Given the description of an element on the screen output the (x, y) to click on. 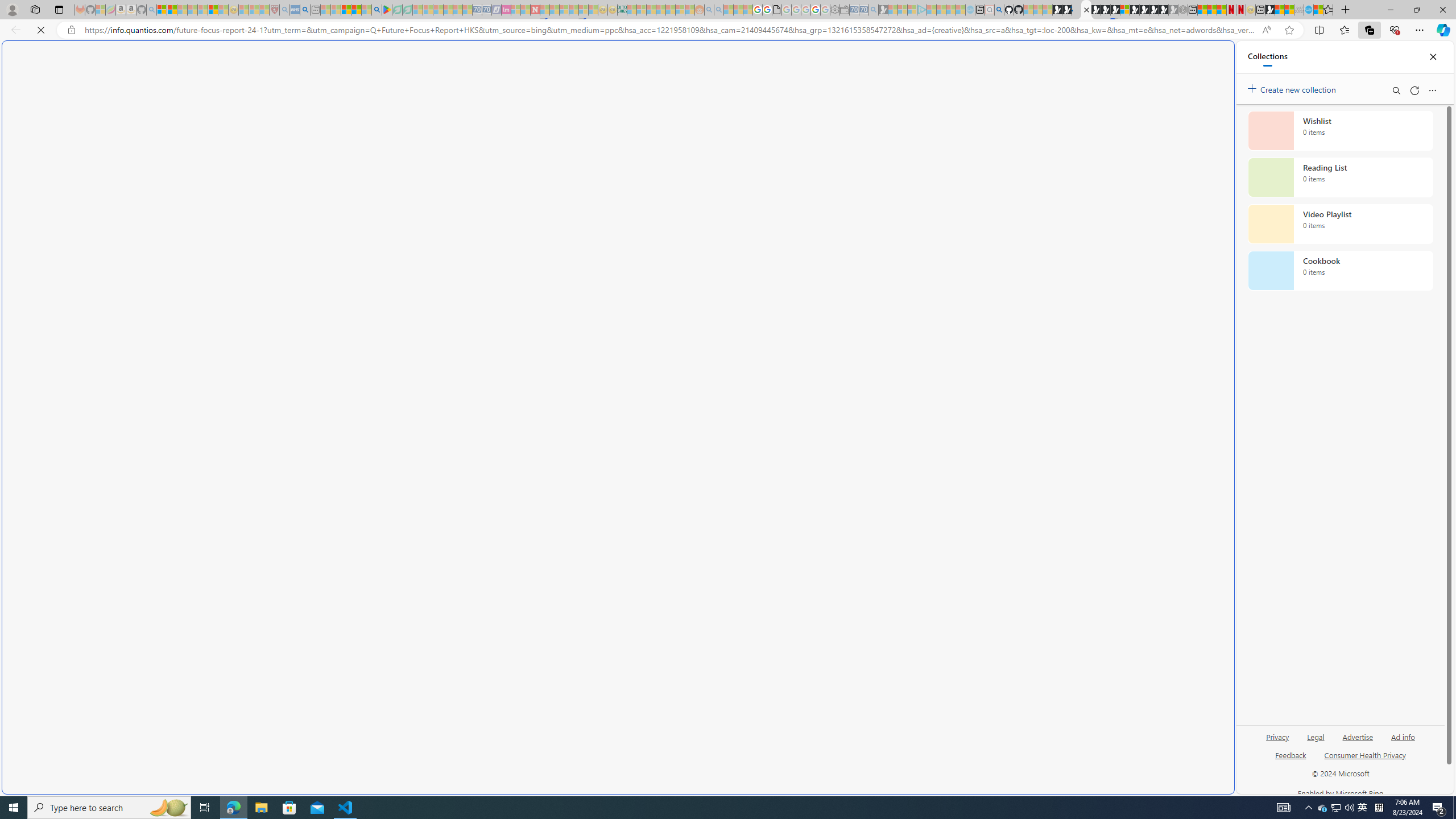
Reading List collection, 0 items (1339, 177)
Search or enter web address (922, 108)
